Given the description of an element on the screen output the (x, y) to click on. 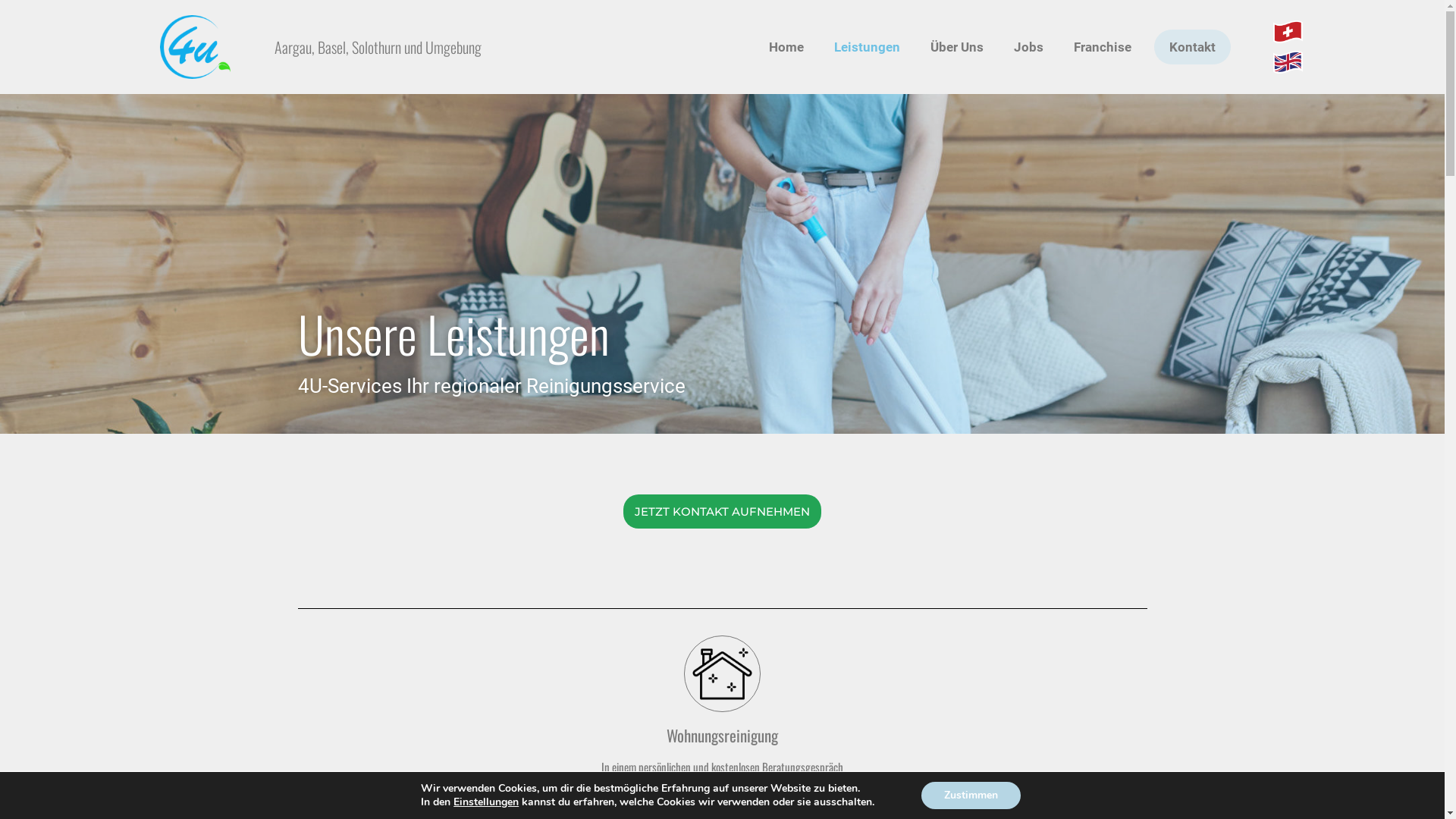
Zustimmen Element type: text (970, 795)
Leistungen Element type: text (867, 46)
Franchise Element type: text (1102, 46)
Home Element type: text (786, 46)
JETZT KONTAKT AUFNEHMEN Element type: text (722, 511)
Jobs Element type: text (1028, 46)
Kontakt Element type: text (1192, 46)
Einstellungen Element type: text (485, 802)
